Given the description of an element on the screen output the (x, y) to click on. 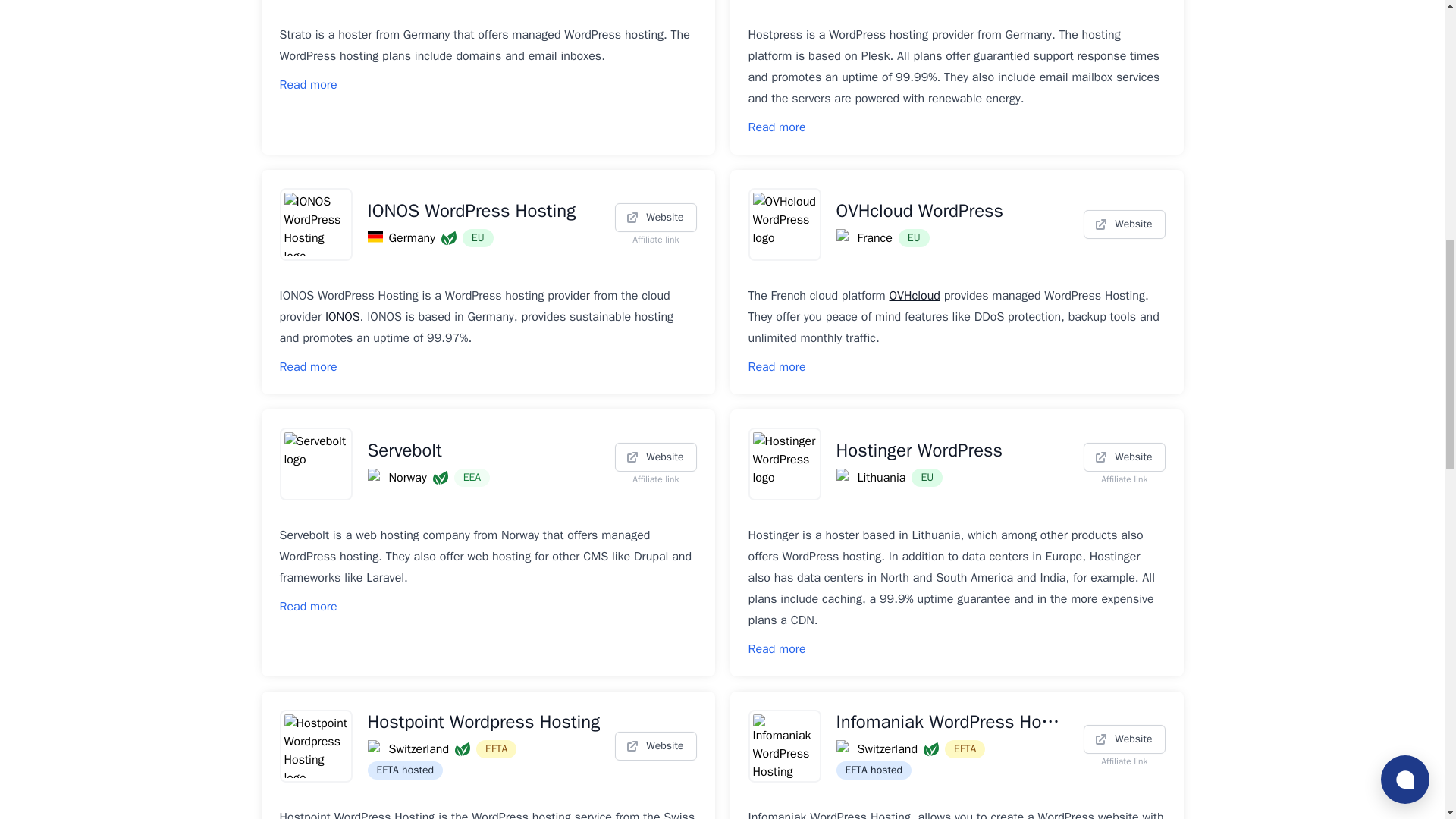
European Economic Area (472, 477)
Website (1123, 457)
Read more (776, 127)
European Free Trade Association (496, 749)
Website (654, 217)
Read more (307, 84)
European Union (926, 477)
Servebolt (482, 450)
Read more (307, 366)
Website (654, 457)
European Union (478, 238)
Website (1123, 224)
OVHcloud (913, 295)
Read more (776, 366)
IONOS WordPress Hosting (482, 210)
